Given the description of an element on the screen output the (x, y) to click on. 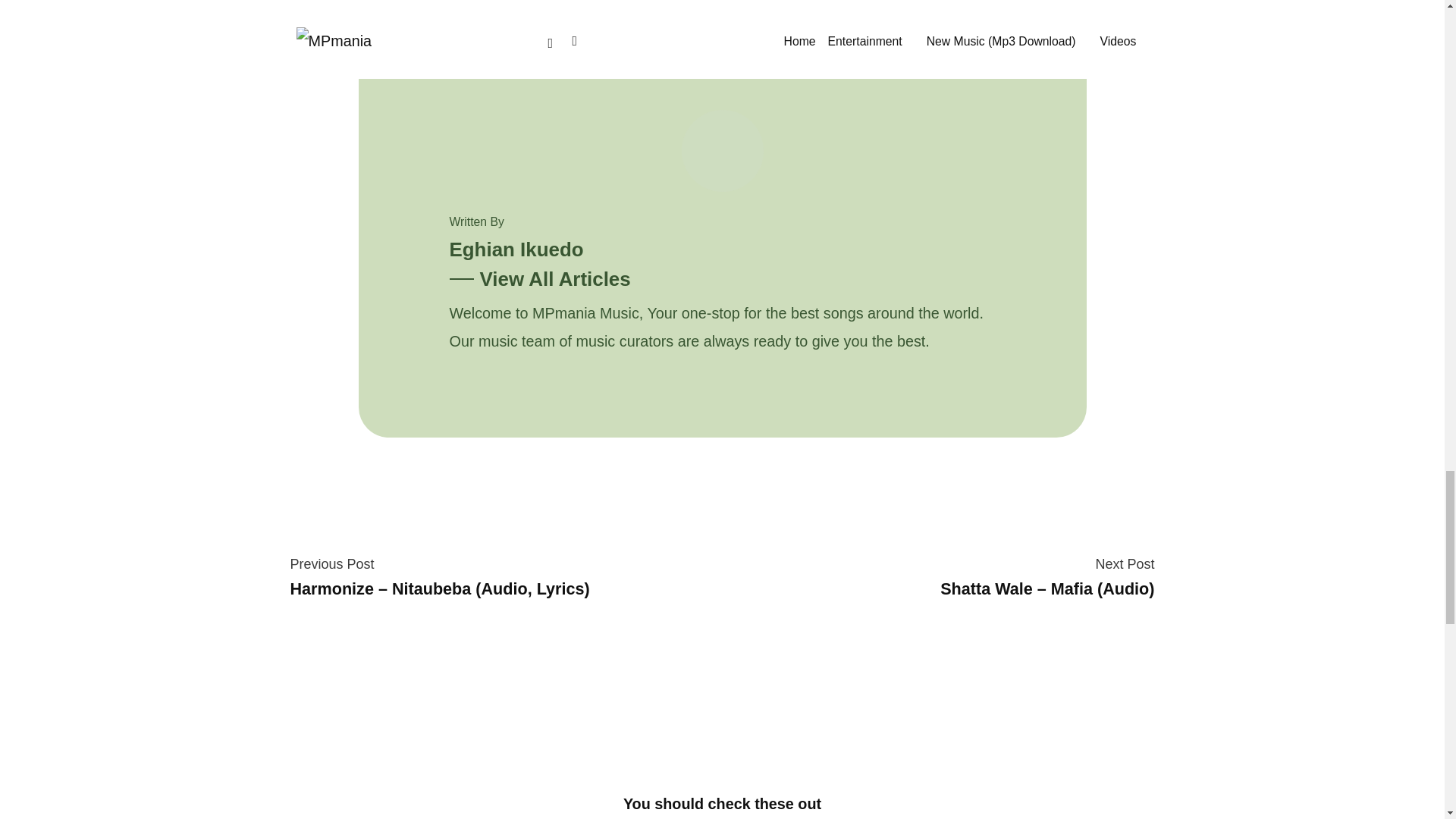
Posts by Eghian Ikuedo (515, 249)
Eghian Ikuedo (515, 249)
View All Articles (539, 279)
